Given the description of an element on the screen output the (x, y) to click on. 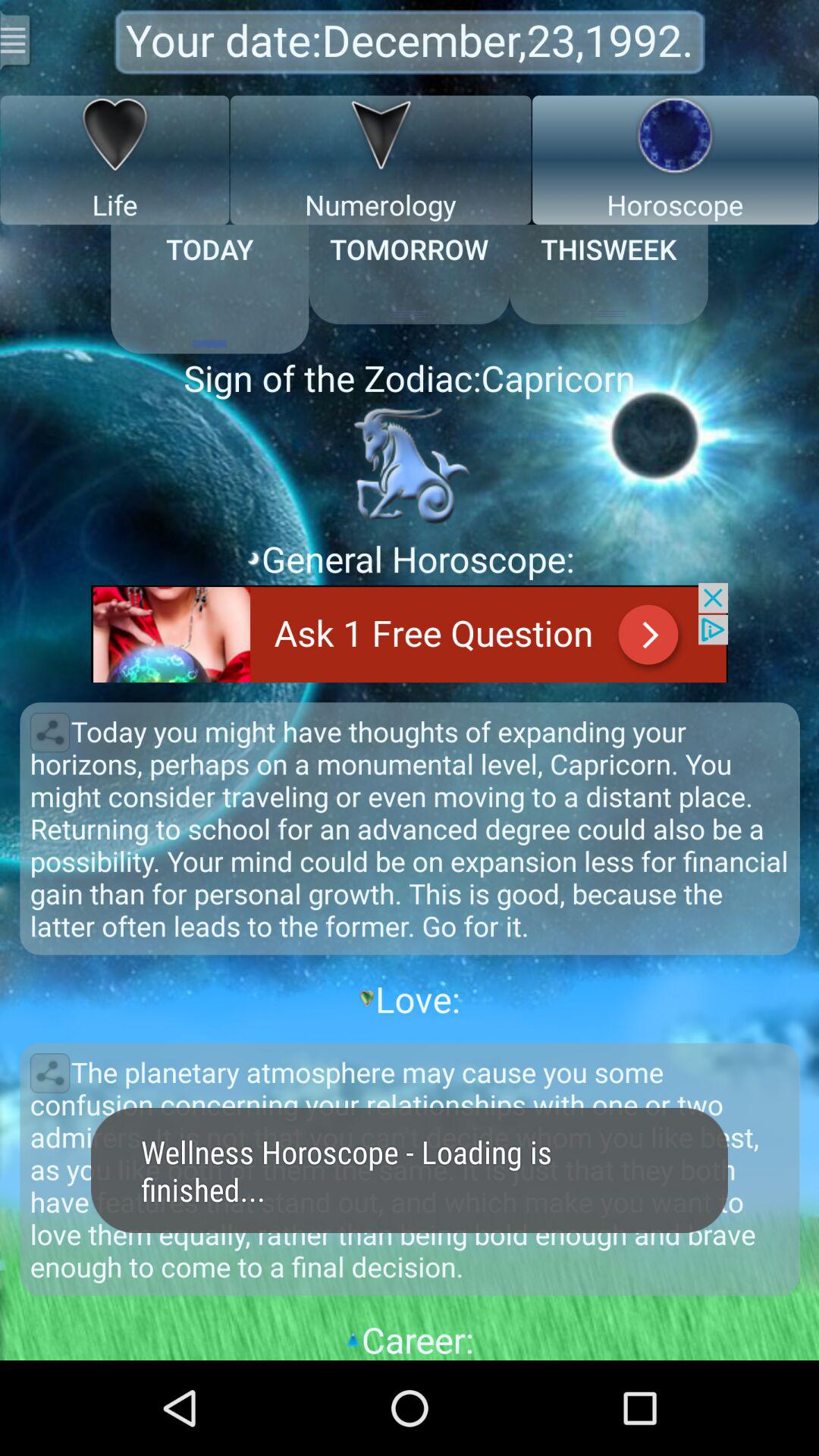
for advertisement (409, 632)
